Given the description of an element on the screen output the (x, y) to click on. 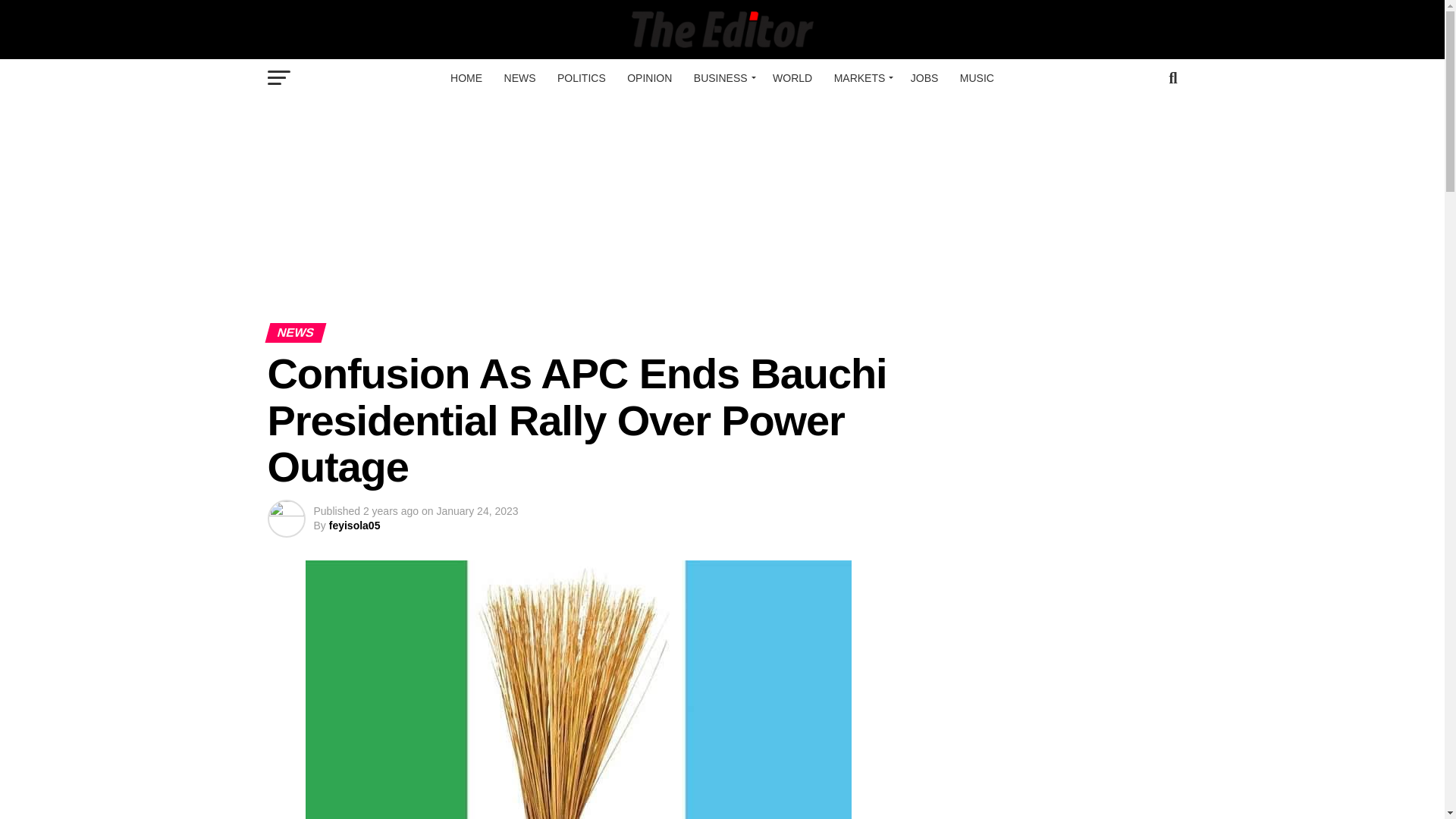
HOME (466, 77)
Posts by feyisola05 (354, 525)
NEWS (519, 77)
BUSINESS (722, 77)
OPINION (649, 77)
POLITICS (581, 77)
